Given the description of an element on the screen output the (x, y) to click on. 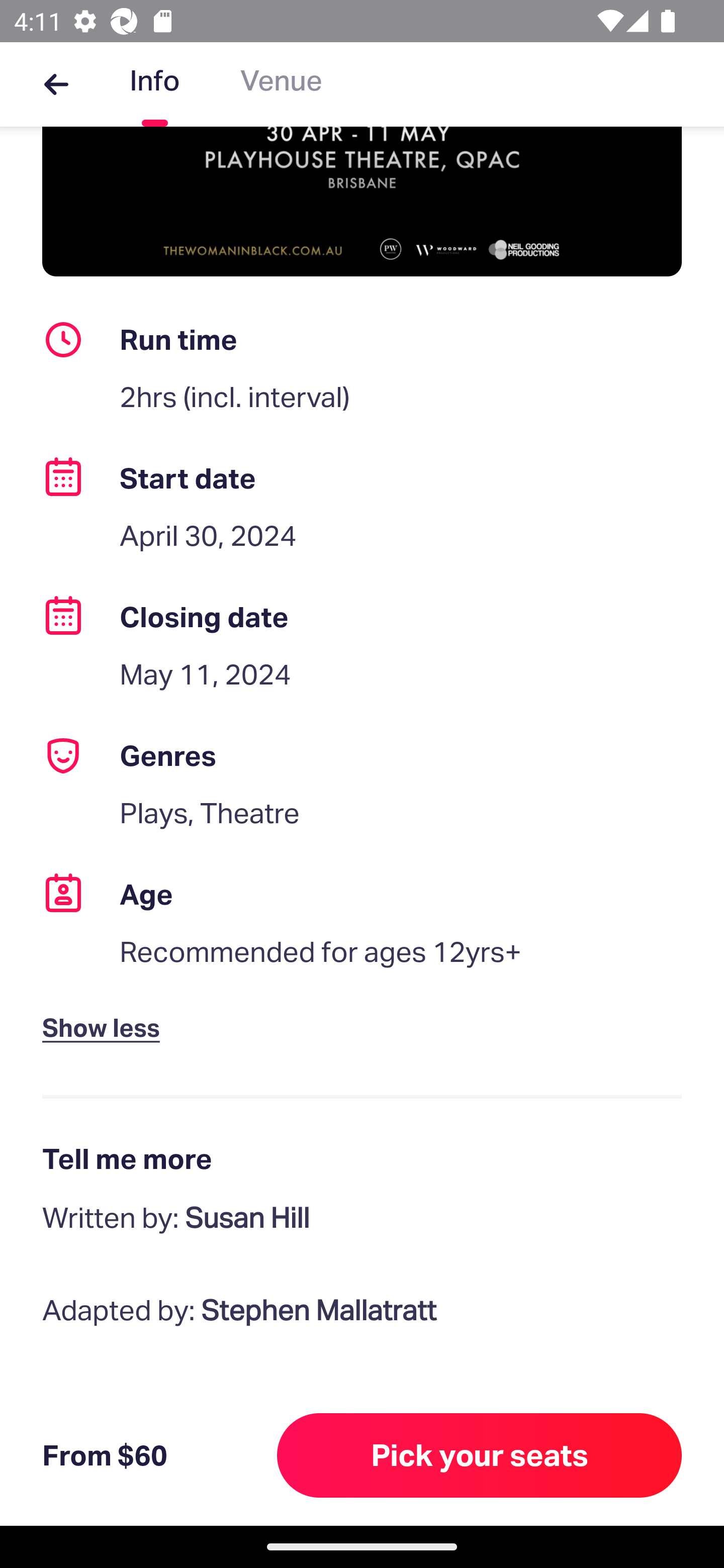
Venue (280, 84)
Show less (104, 1011)
Tell me more (361, 1159)
Pick your seats (479, 1454)
